Given the description of an element on the screen output the (x, y) to click on. 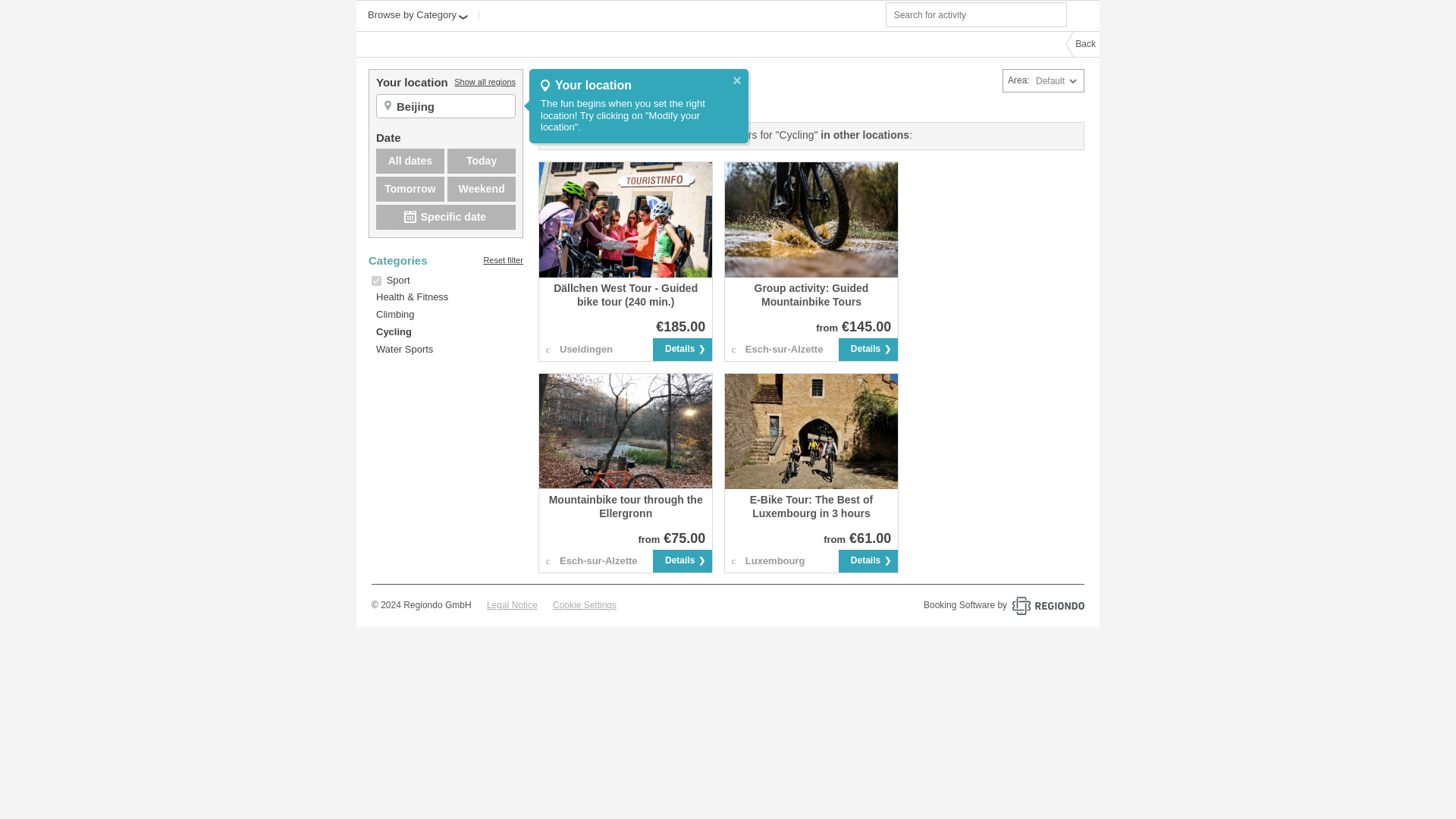
Best of Luxembourg Guided e-Bike tour, sightseeing.lu (811, 430)
Details (868, 349)
Tomorrow (409, 188)
Beijing (453, 106)
Group activity: Guided Mountainbike Tours (811, 294)
Search (1083, 14)
Beijing (453, 106)
All dates (409, 160)
Today (480, 160)
Water Sports (400, 348)
Sport (398, 279)
Esch-sur-Alzette (786, 349)
Group activity: Guided Mountainbike Tours (811, 219)
Details (681, 349)
Group activity: Guided Mountainbike Tours (811, 294)
